Given the description of an element on the screen output the (x, y) to click on. 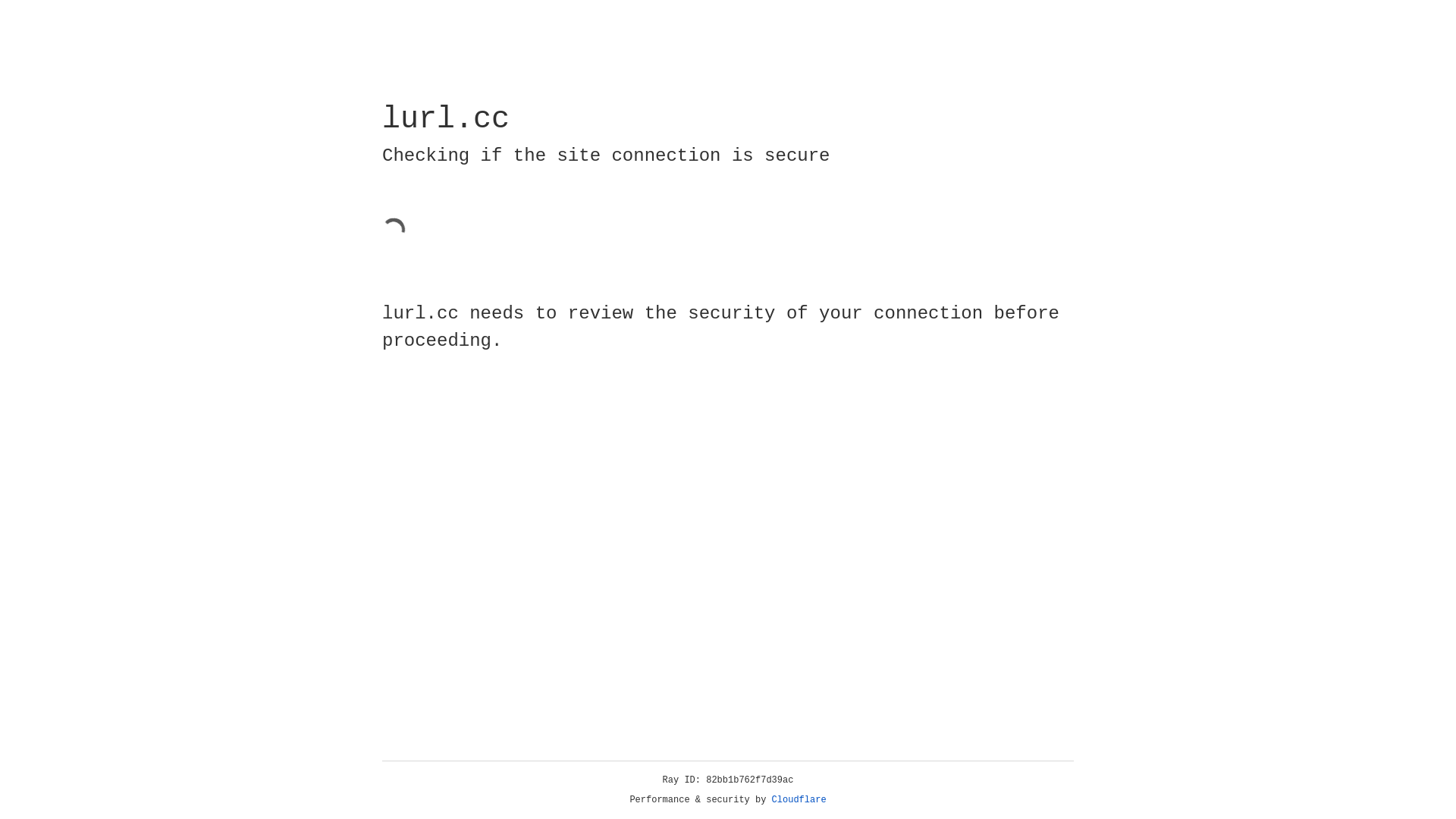
Cloudflare Element type: text (798, 799)
